Given the description of an element on the screen output the (x, y) to click on. 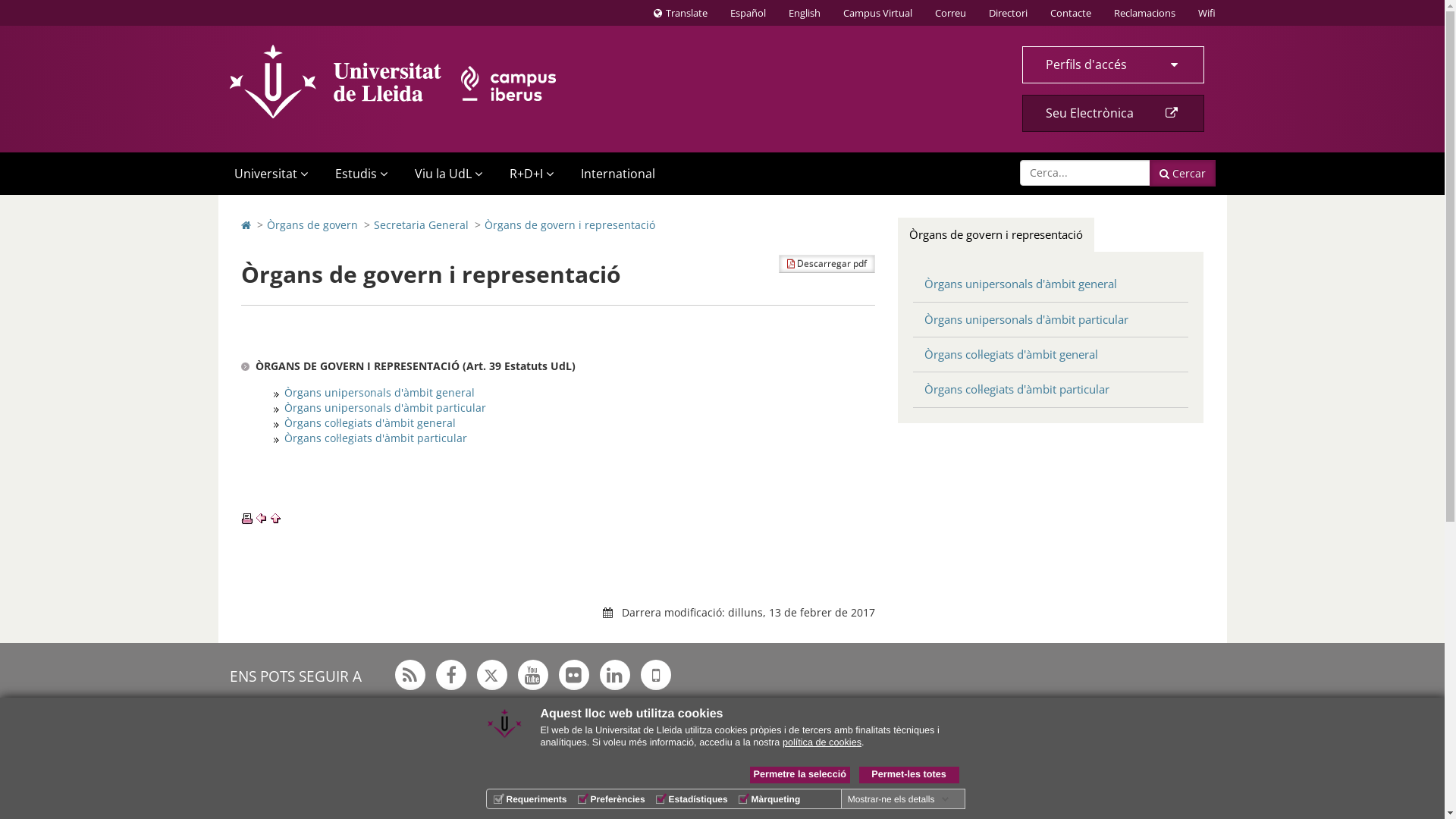
Campus Iberus Element type: text (637, 796)
Campus Virtual Element type: text (876, 12)
Twitter Element type: text (491, 674)
fletxa-gris Element type: hover (276, 393)
tornar enrera Element type: hover (261, 518)
Correu Element type: text (950, 12)
Linkedin Element type: text (614, 674)
Directori Element type: text (1007, 12)
UdL App Element type: text (655, 674)
Flickr Element type: text (573, 674)
Mostrar-ne els detalls Element type: text (898, 799)
International Element type: text (617, 173)
imprimir Element type: hover (247, 518)
pujar a dalt Element type: hover (275, 518)
Universitat de Lleida - Campus Iberus Element type: hover (392, 81)
Cerca... Element type: hover (1084, 172)
Universitat
   Element type: text (268, 173)
Secretaria General Element type: text (420, 224)
. Element type: hover (276, 423)
Facebook Element type: text (450, 674)
Rss Element type: text (409, 674)
. Element type: hover (276, 438)
Wifi Element type: text (1206, 12)
 Cercar Element type: text (1182, 173)
Youtube Element type: text (532, 674)
Permet-les totes Element type: text (908, 774)
R+D+I
   Element type: text (528, 173)
Viu la UdL
   Element type: text (445, 173)
Contacte
Contacte Element type: text (1070, 12)
Estudis
   Element type: text (358, 173)
. Element type: hover (276, 408)
Reclamacions Element type: text (1144, 12)
English Element type: text (803, 12)
 Descarregar pdf Element type: text (826, 263)
